Given the description of an element on the screen output the (x, y) to click on. 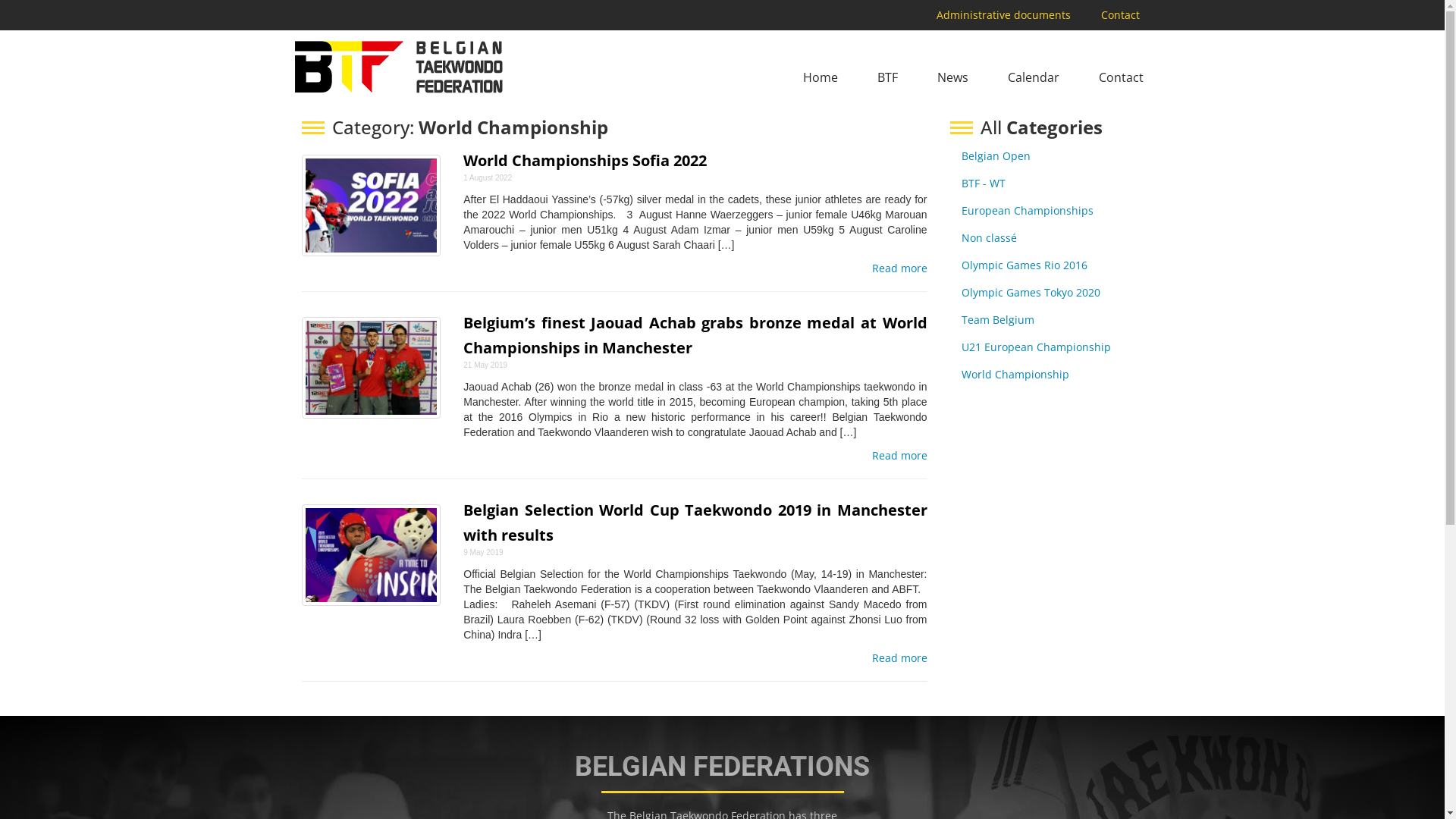
European Championships Element type: text (1027, 210)
BTF Element type: text (887, 77)
Team Belgium Element type: text (997, 319)
Read more Element type: text (899, 657)
Olympic Games Tokyo 2020 Element type: text (1030, 292)
Contact Element type: text (1120, 77)
Contact Element type: text (1119, 15)
Calendar Element type: text (1033, 77)
BTF - Belgian Taekwondo Federation Element type: hover (397, 66)
Administrative documents Element type: text (1003, 15)
Read more Element type: text (899, 455)
World Championships Sofia 2022 Element type: text (584, 160)
Read more Element type: text (899, 268)
Belgian Open Element type: text (995, 155)
Home Element type: text (820, 77)
Olympic Games Rio 2016 Element type: text (1024, 264)
World Championship Element type: text (1015, 374)
U21 European Championship Element type: text (1035, 346)
News Element type: text (952, 77)
BTF - WT Element type: text (983, 182)
